Given the description of an element on the screen output the (x, y) to click on. 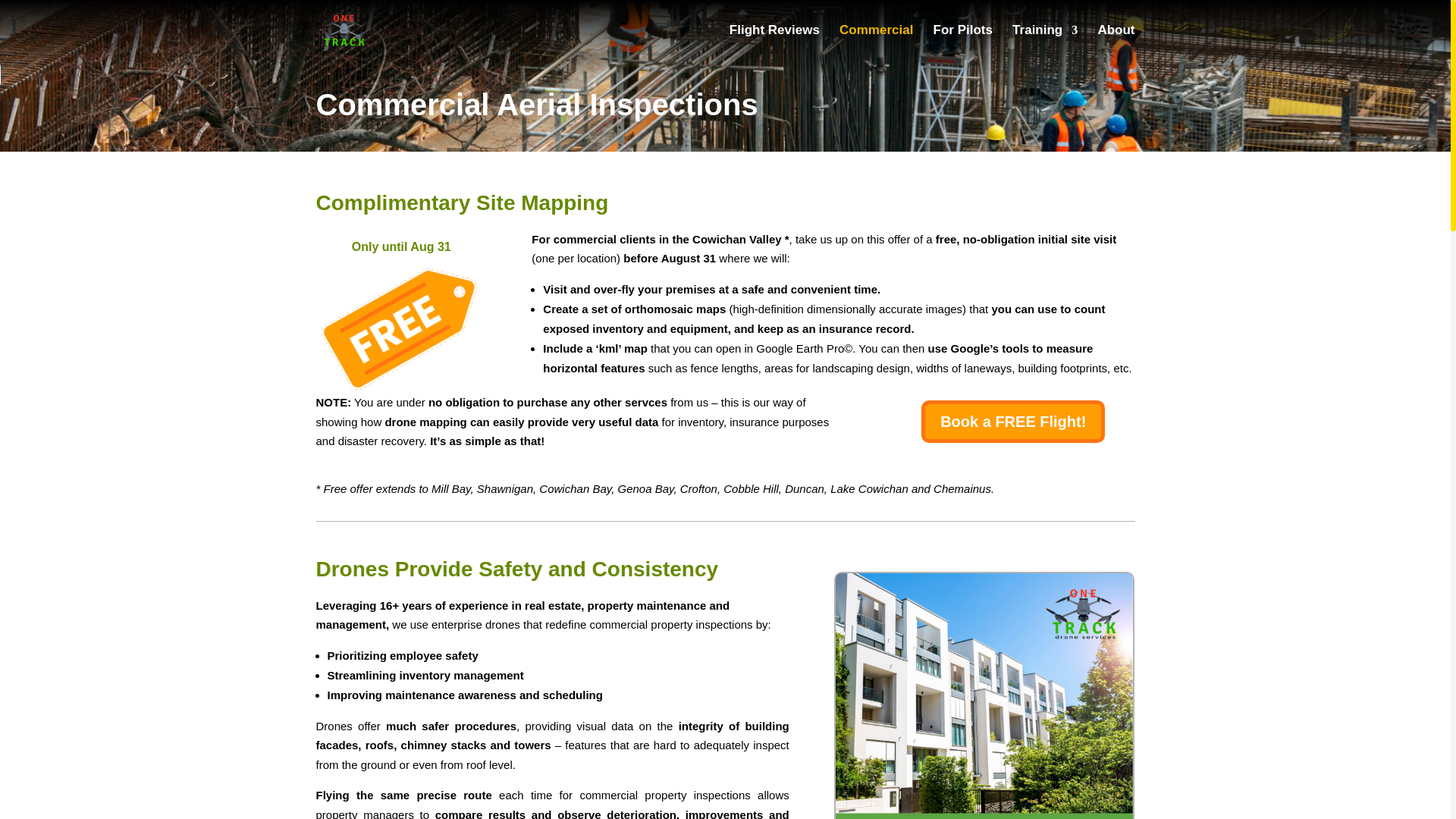
Training (1044, 42)
Commercial (876, 42)
About (1115, 42)
free (400, 329)
Book a FREE Flight! (1013, 421)
Flight Reviews (774, 42)
For Pilots (962, 42)
